Given the description of an element on the screen output the (x, y) to click on. 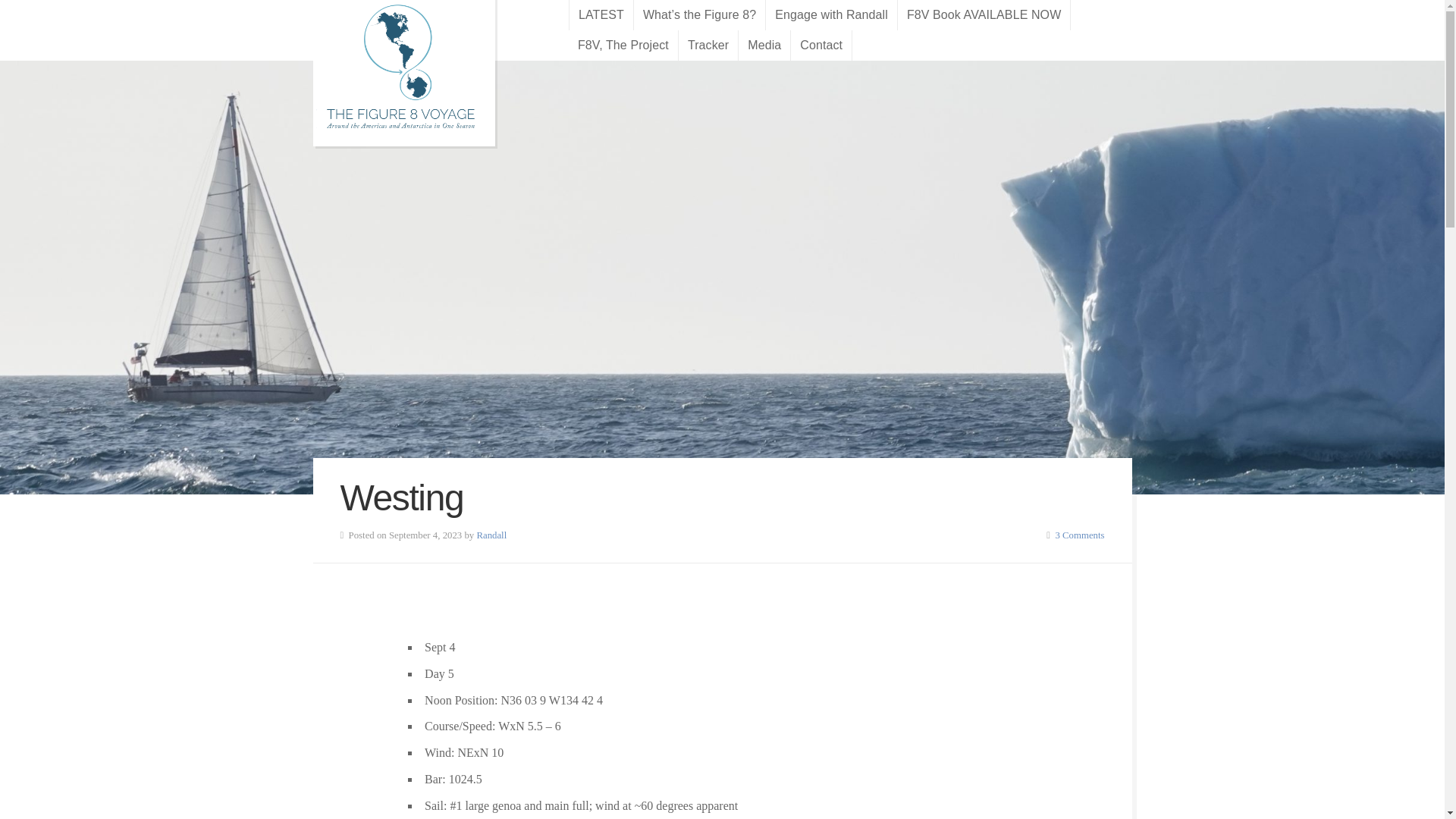
Randall (491, 534)
3 Comments (1078, 534)
3 Comments (1078, 534)
Tracker (708, 45)
LATEST (601, 15)
Posts by Randall (491, 534)
Contact (820, 45)
F8V Book AVAILABLE NOW (984, 15)
F8V, The Project (623, 45)
Media (764, 45)
Engage with Randall (830, 15)
